Given the description of an element on the screen output the (x, y) to click on. 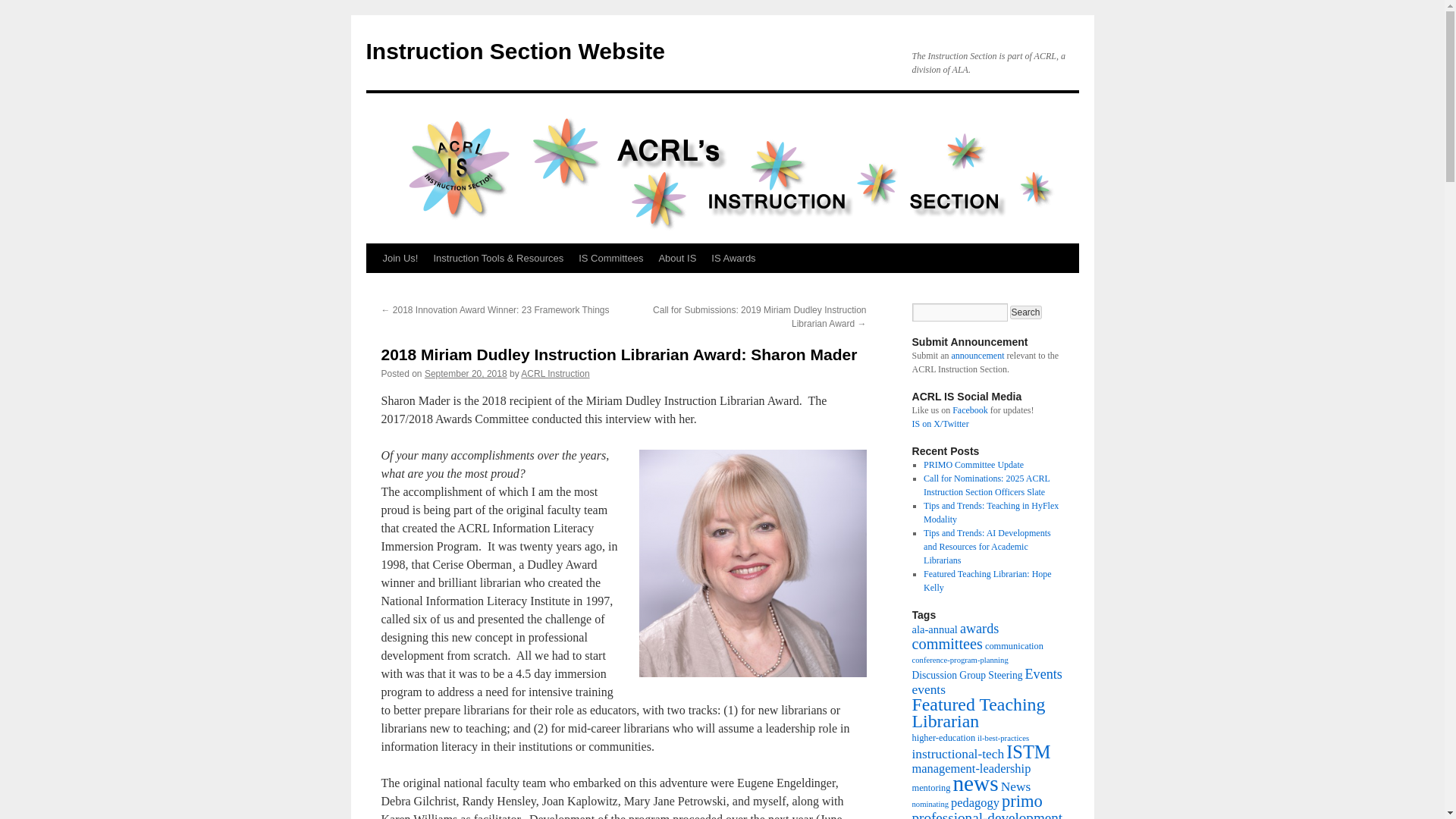
PRIMO Committee Update (973, 464)
IS Awards (732, 258)
ACRL Instruction (555, 373)
Search (1026, 312)
Join Us! (399, 258)
View all posts by ACRL Instruction (555, 373)
Facebook (970, 409)
September 20, 2018 (465, 373)
3:39 pm (465, 373)
